Given the description of an element on the screen output the (x, y) to click on. 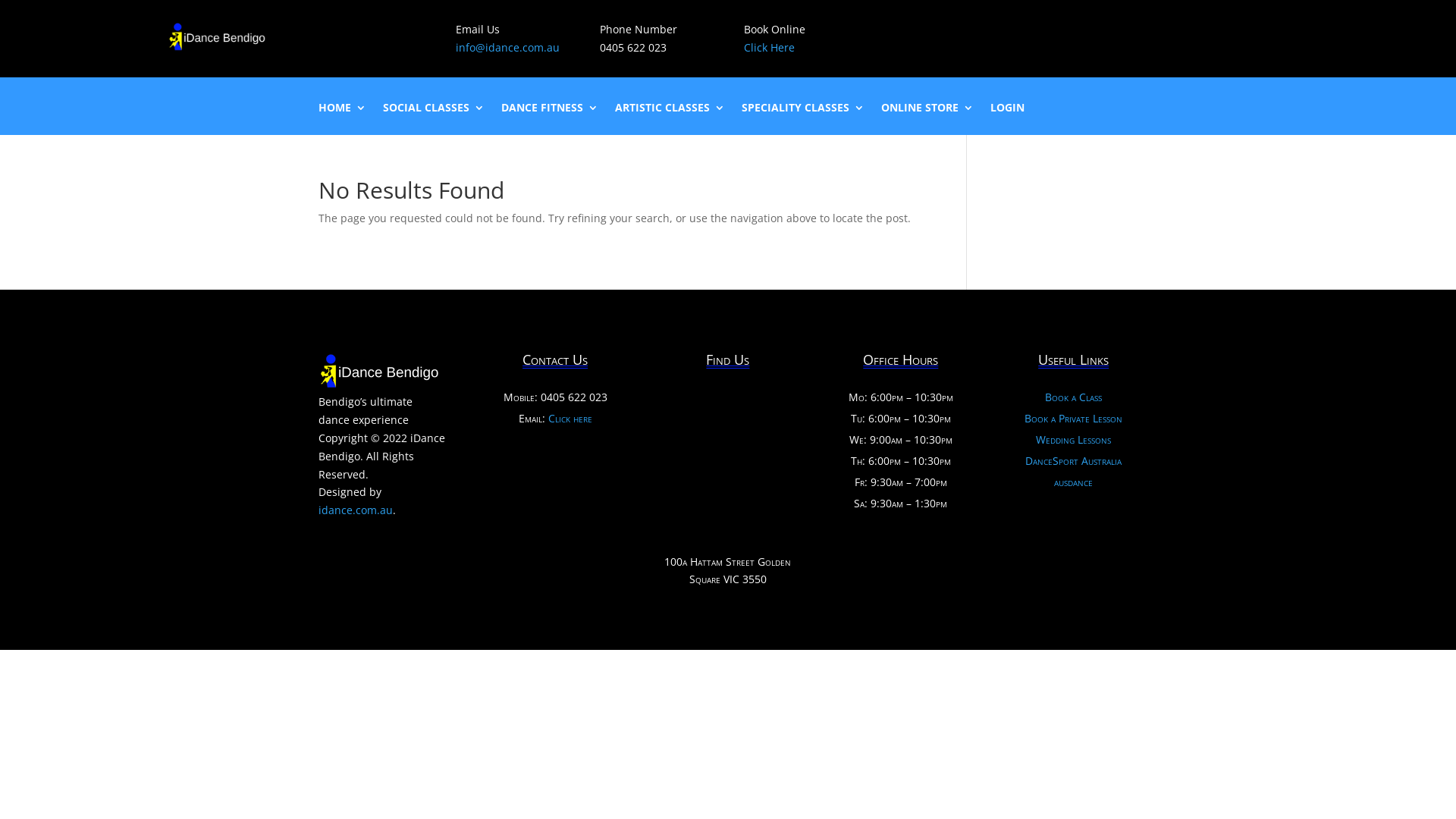
DanceSport Australia Element type: text (1073, 460)
SOCIAL CLASSES Element type: text (433, 118)
SPECIALITY CLASSES Element type: text (802, 118)
iDance-Bendigo1 Element type: hover (378, 371)
ausdance Element type: text (1073, 481)
Book a Private Lesson Element type: text (1073, 418)
ONLINE STORE Element type: text (927, 118)
Click here Element type: text (570, 418)
DANCE FITNESS Element type: text (549, 118)
HOME Element type: text (342, 118)
idance.com.au Element type: text (355, 509)
Wedding Lessons Element type: text (1072, 439)
LOGIN Element type: text (1007, 118)
info@idance.com.au Element type: text (507, 47)
Book a Class Element type: text (1072, 396)
iDance-Bendigo1 Element type: hover (216, 37)
ARTISTIC CLASSES Element type: text (669, 118)
Click Here Element type: text (768, 47)
